Given the description of an element on the screen output the (x, y) to click on. 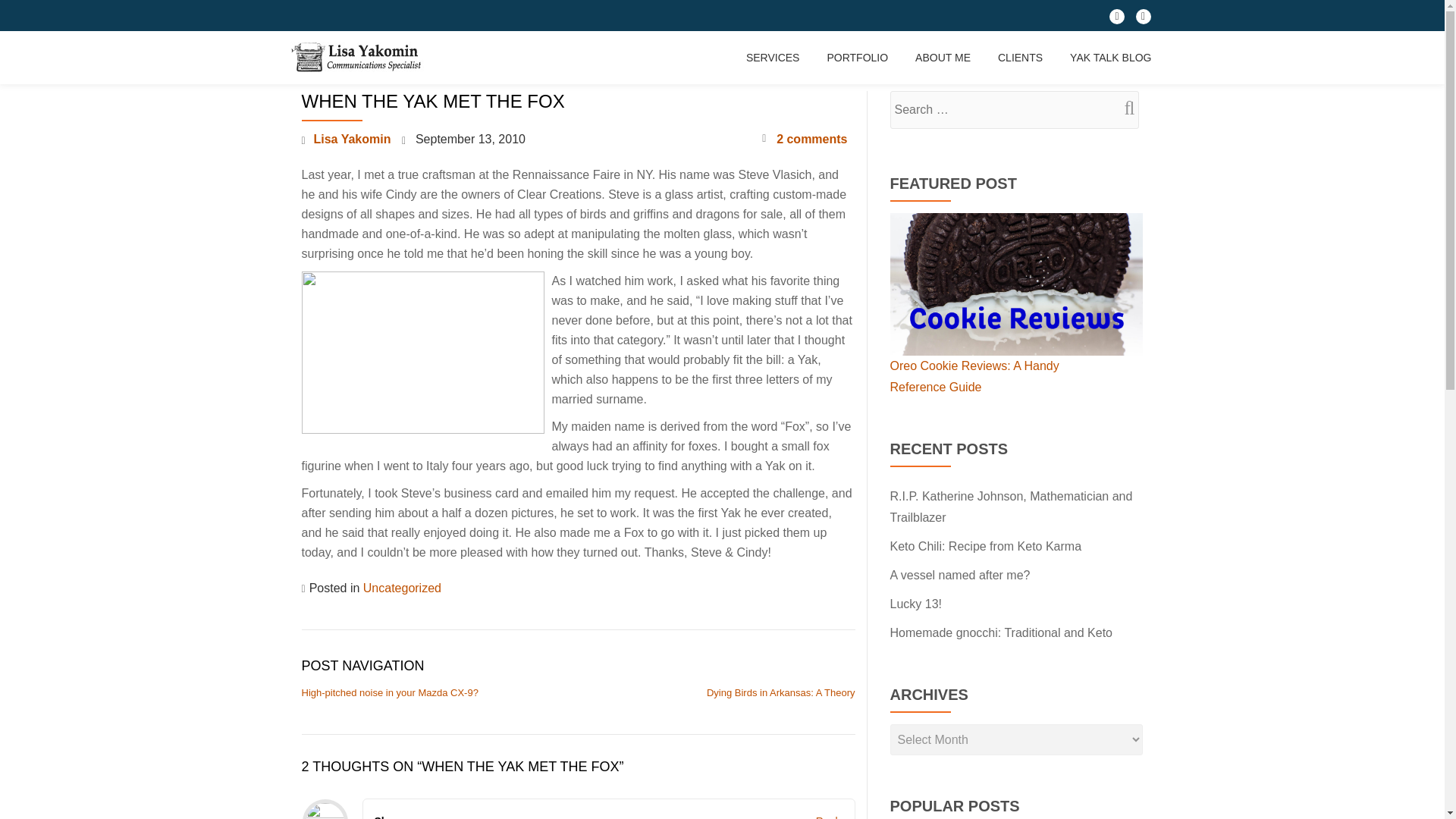
Dying Birds in Arkansas: A Theory (781, 692)
2 comments (804, 138)
Oreo Cookie Reviews: A Handy Reference Guide (974, 376)
Shourya (395, 816)
Search (1122, 107)
Uncategorized (401, 587)
PORTFOLIO (857, 57)
Lisa Yakomin (359, 57)
Homemade gnocchi: Traditional and Keto (1001, 632)
ABOUT ME (943, 57)
